Given the description of an element on the screen output the (x, y) to click on. 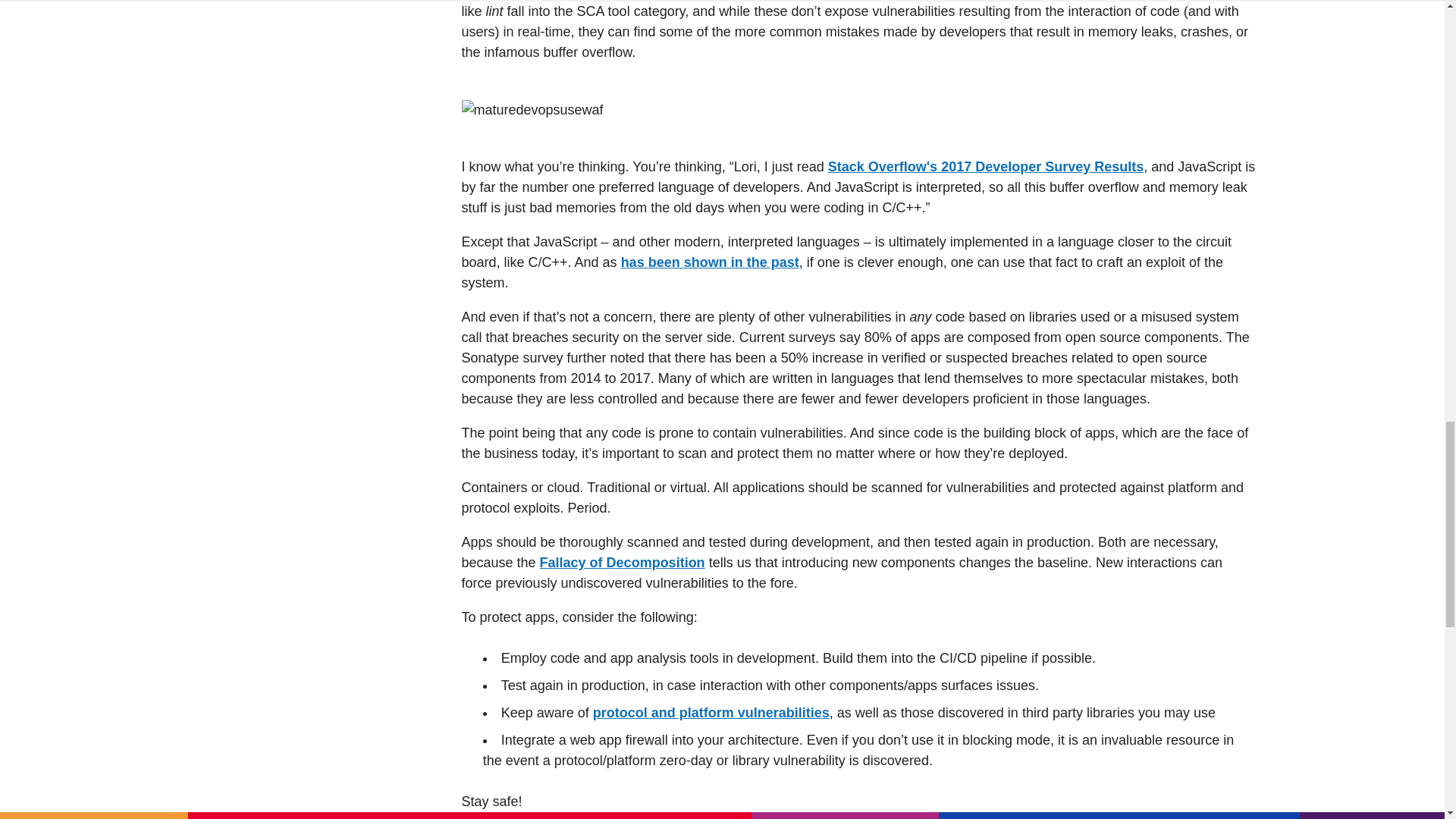
protocol and platform vulnerabilities (710, 712)
Stack Overflow's 2017 Developer Survey Results (986, 166)
has been shown in the past (710, 262)
Fallacy of Decomposition (622, 562)
